Given the description of an element on the screen output the (x, y) to click on. 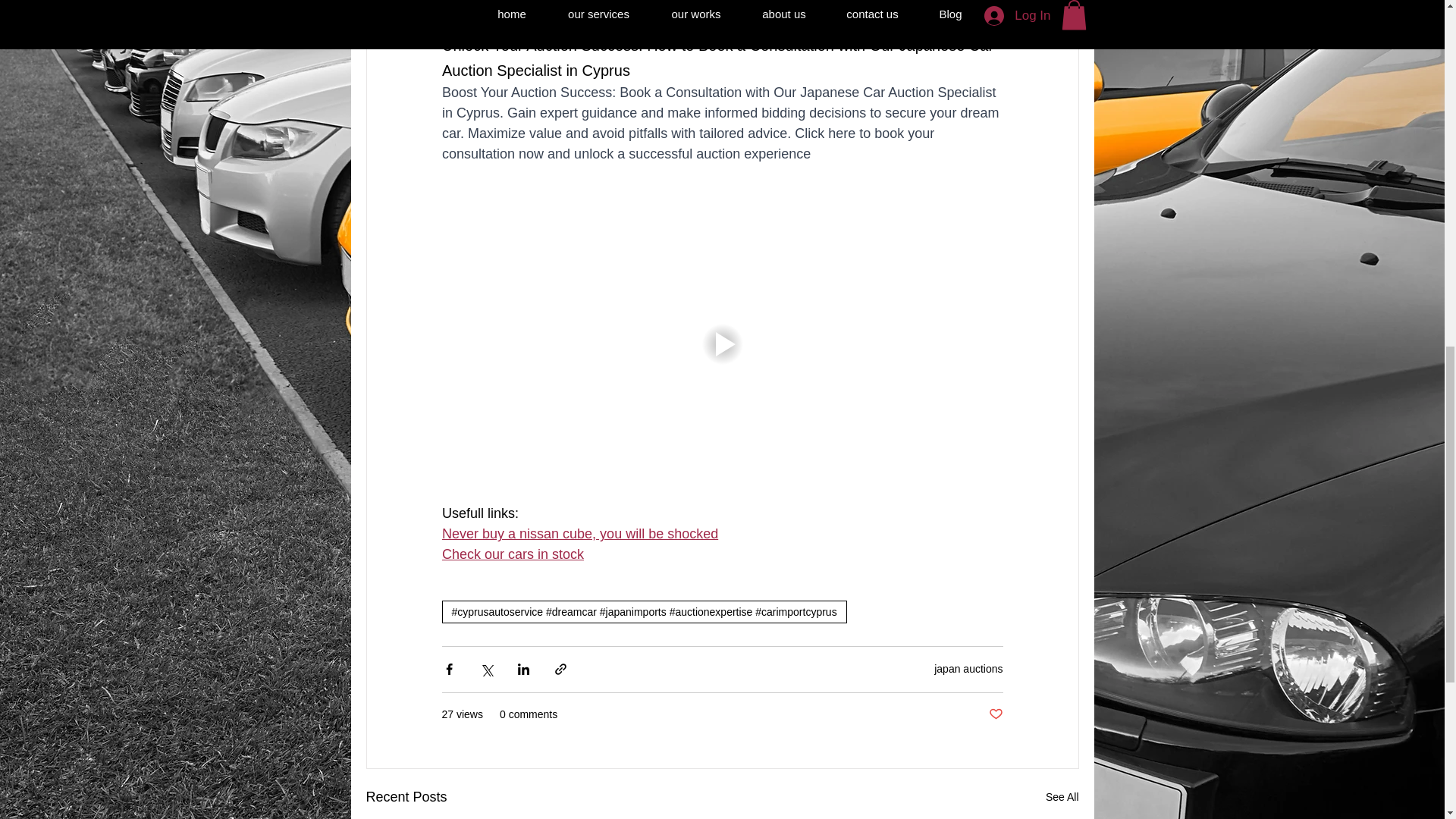
Never buy a nissan cube, you will be shocked (579, 534)
See All (1061, 797)
Check our cars in stock (512, 554)
japan auctions (968, 668)
Post not marked as liked (995, 714)
